Given the description of an element on the screen output the (x, y) to click on. 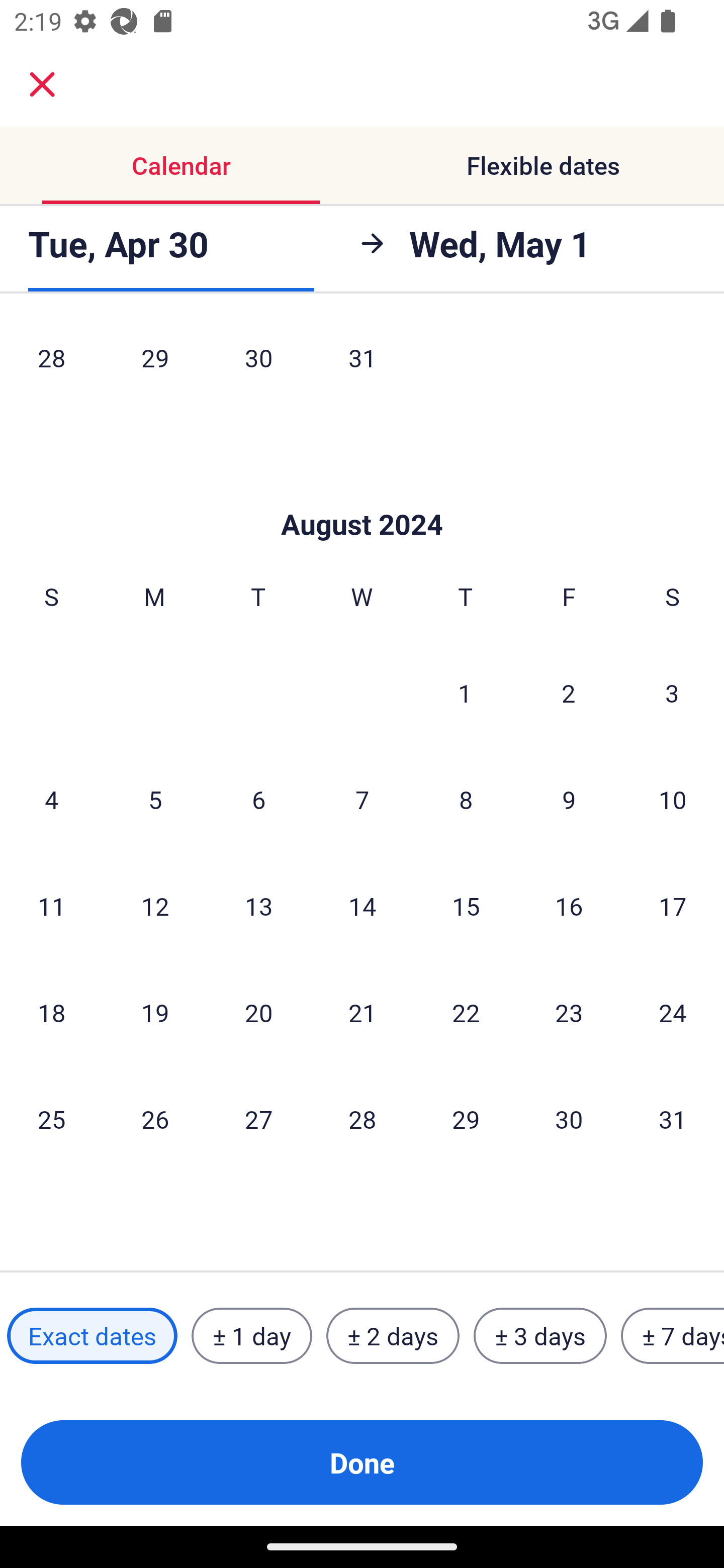
close. (42, 84)
Flexible dates (542, 164)
28 Sunday, July 28, 2024 (51, 365)
29 Monday, July 29, 2024 (155, 365)
30 Tuesday, July 30, 2024 (258, 365)
31 Wednesday, July 31, 2024 (362, 365)
Skip to Done (362, 493)
1 Thursday, August 1, 2024 (464, 692)
2 Friday, August 2, 2024 (568, 692)
3 Saturday, August 3, 2024 (672, 692)
4 Sunday, August 4, 2024 (51, 799)
5 Monday, August 5, 2024 (155, 799)
6 Tuesday, August 6, 2024 (258, 799)
7 Wednesday, August 7, 2024 (362, 799)
8 Thursday, August 8, 2024 (465, 799)
9 Friday, August 9, 2024 (569, 799)
10 Saturday, August 10, 2024 (672, 799)
11 Sunday, August 11, 2024 (51, 906)
12 Monday, August 12, 2024 (155, 906)
13 Tuesday, August 13, 2024 (258, 906)
14 Wednesday, August 14, 2024 (362, 906)
15 Thursday, August 15, 2024 (465, 906)
16 Friday, August 16, 2024 (569, 906)
17 Saturday, August 17, 2024 (672, 906)
18 Sunday, August 18, 2024 (51, 1012)
19 Monday, August 19, 2024 (155, 1012)
20 Tuesday, August 20, 2024 (258, 1012)
21 Wednesday, August 21, 2024 (362, 1012)
22 Thursday, August 22, 2024 (465, 1012)
23 Friday, August 23, 2024 (569, 1012)
24 Saturday, August 24, 2024 (672, 1012)
25 Sunday, August 25, 2024 (51, 1118)
26 Monday, August 26, 2024 (155, 1118)
27 Tuesday, August 27, 2024 (258, 1118)
28 Wednesday, August 28, 2024 (362, 1118)
29 Thursday, August 29, 2024 (465, 1118)
30 Friday, August 30, 2024 (569, 1118)
31 Saturday, August 31, 2024 (672, 1118)
Exact dates (92, 1335)
± 1 day (251, 1335)
± 2 days (392, 1335)
± 3 days (539, 1335)
± 7 days (672, 1335)
Done (361, 1462)
